Given the description of an element on the screen output the (x, y) to click on. 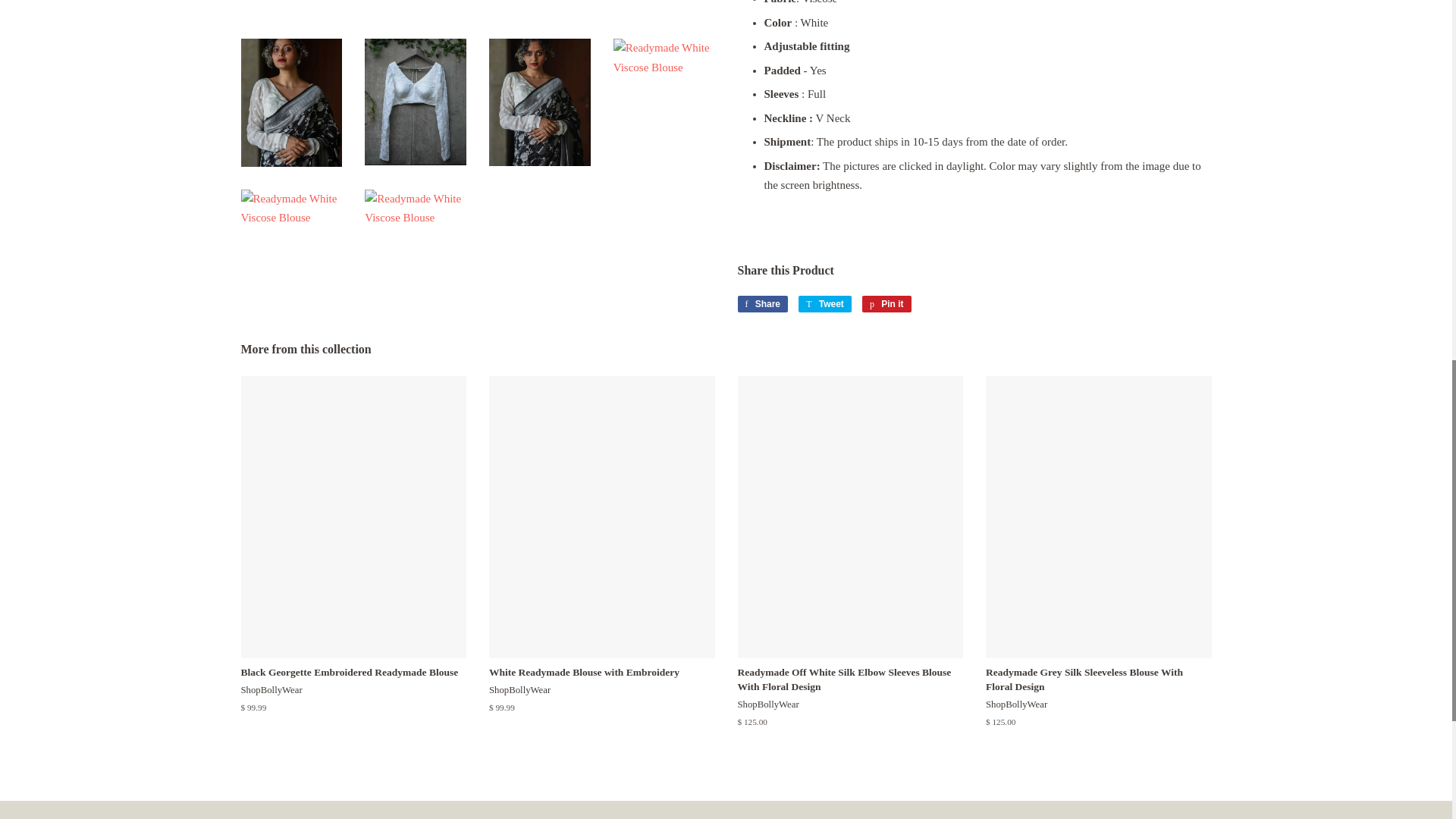
Share on Facebook (761, 303)
Tweet on Twitter (824, 303)
Pin on Pinterest (886, 303)
